Given the description of an element on the screen output the (x, y) to click on. 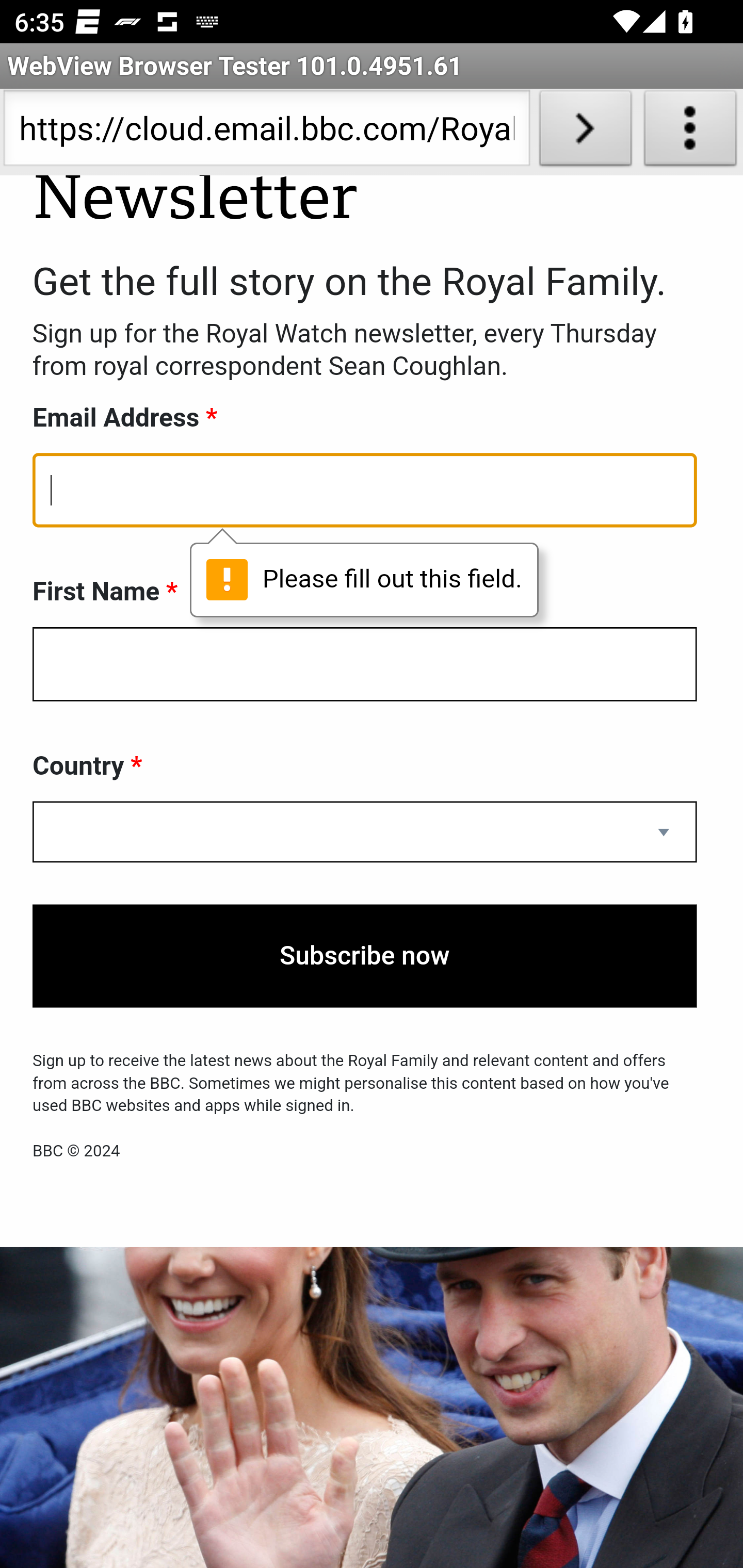
Load URL (585, 132)
About WebView (690, 132)
Subscribe now (364, 956)
